Given the description of an element on the screen output the (x, y) to click on. 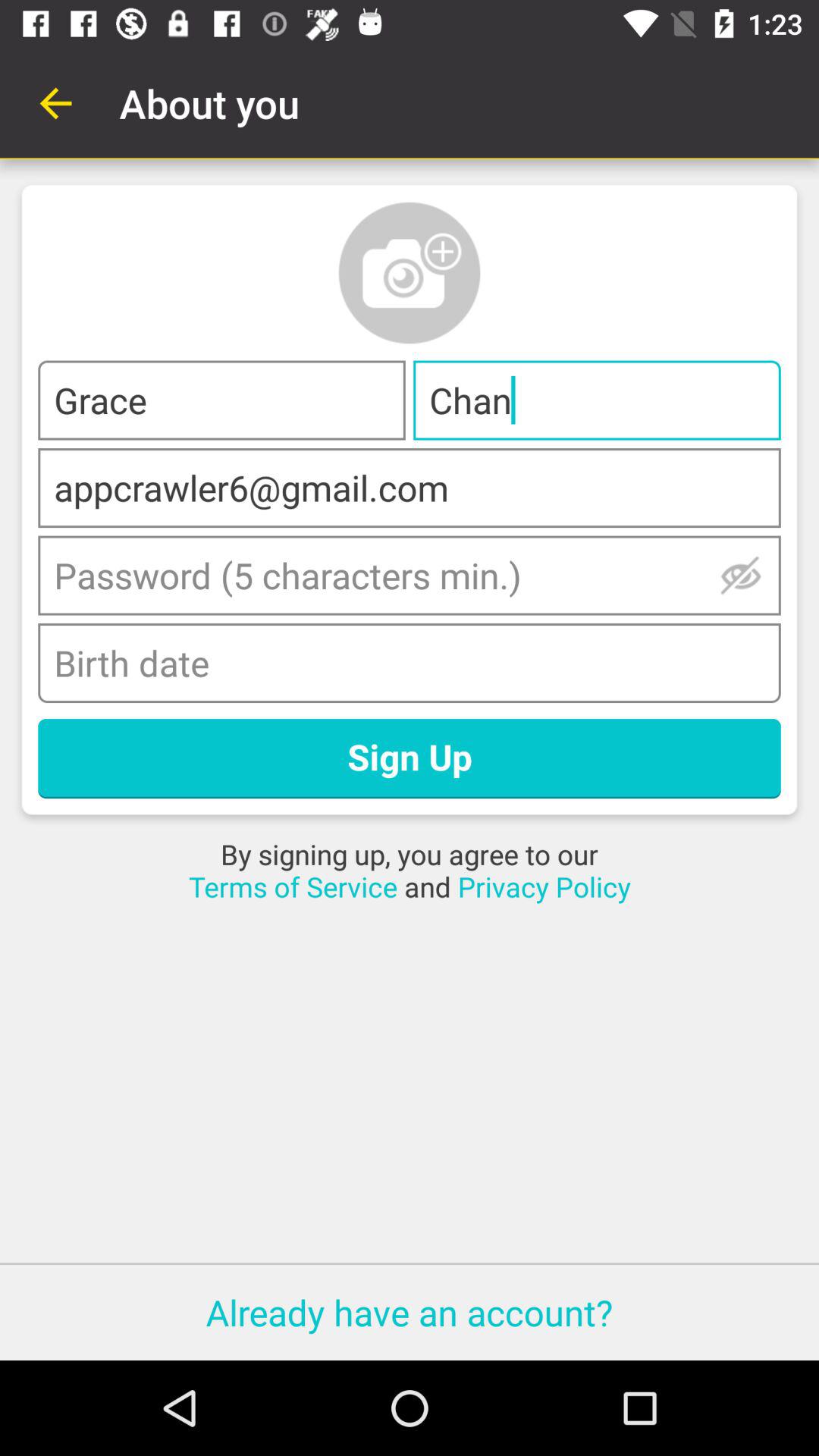
enter birthdate (409, 662)
